Given the description of an element on the screen output the (x, y) to click on. 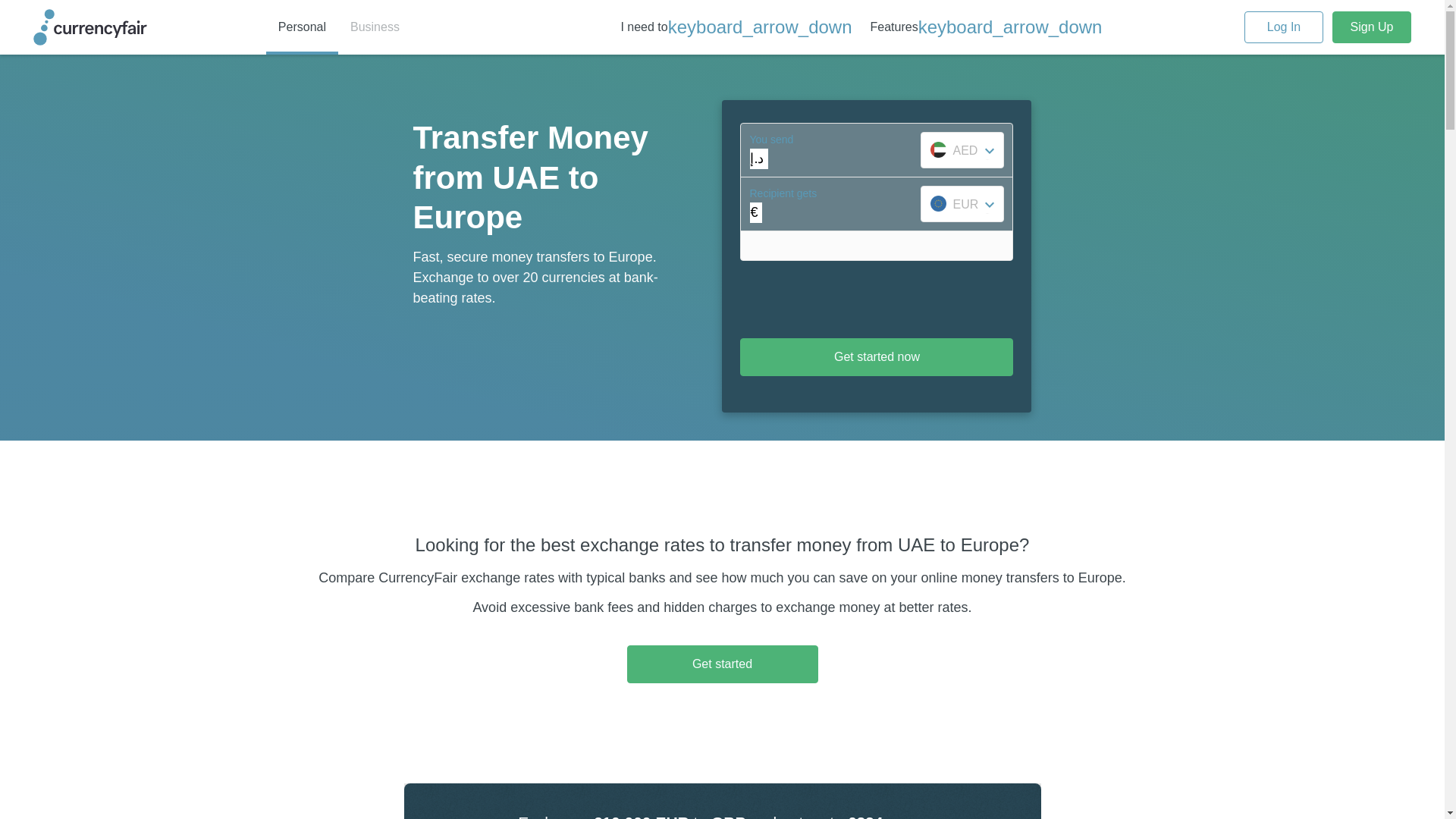
Get started (721, 663)
Business (374, 26)
Personal (302, 26)
Sign Up (1371, 27)
Get started now (876, 356)
AED (962, 149)
Log In (1283, 27)
EUR (962, 203)
